Given the description of an element on the screen output the (x, y) to click on. 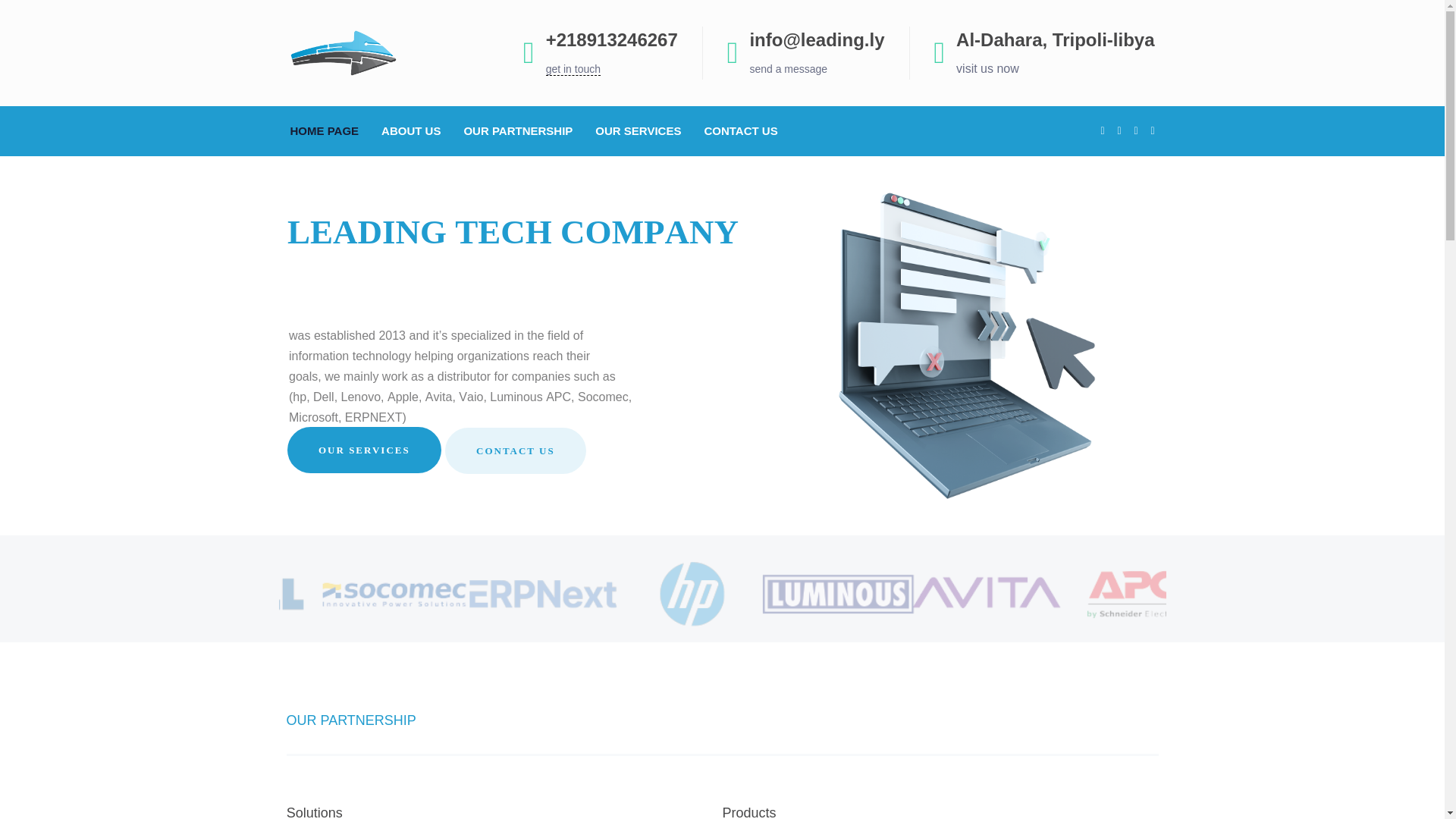
get in touch (572, 69)
CONTACT US (741, 130)
tooway-05 (247, 594)
87-04 (542, 594)
tooway-06 (1133, 594)
visit us now (987, 68)
87-05 (394, 594)
87-02 (986, 594)
87-03 (838, 594)
ABOUT US (410, 130)
tooway-02 (690, 594)
HOME PAGE (329, 130)
send a message (788, 68)
OUR PARTNERSHIP (517, 130)
